Given the description of an element on the screen output the (x, y) to click on. 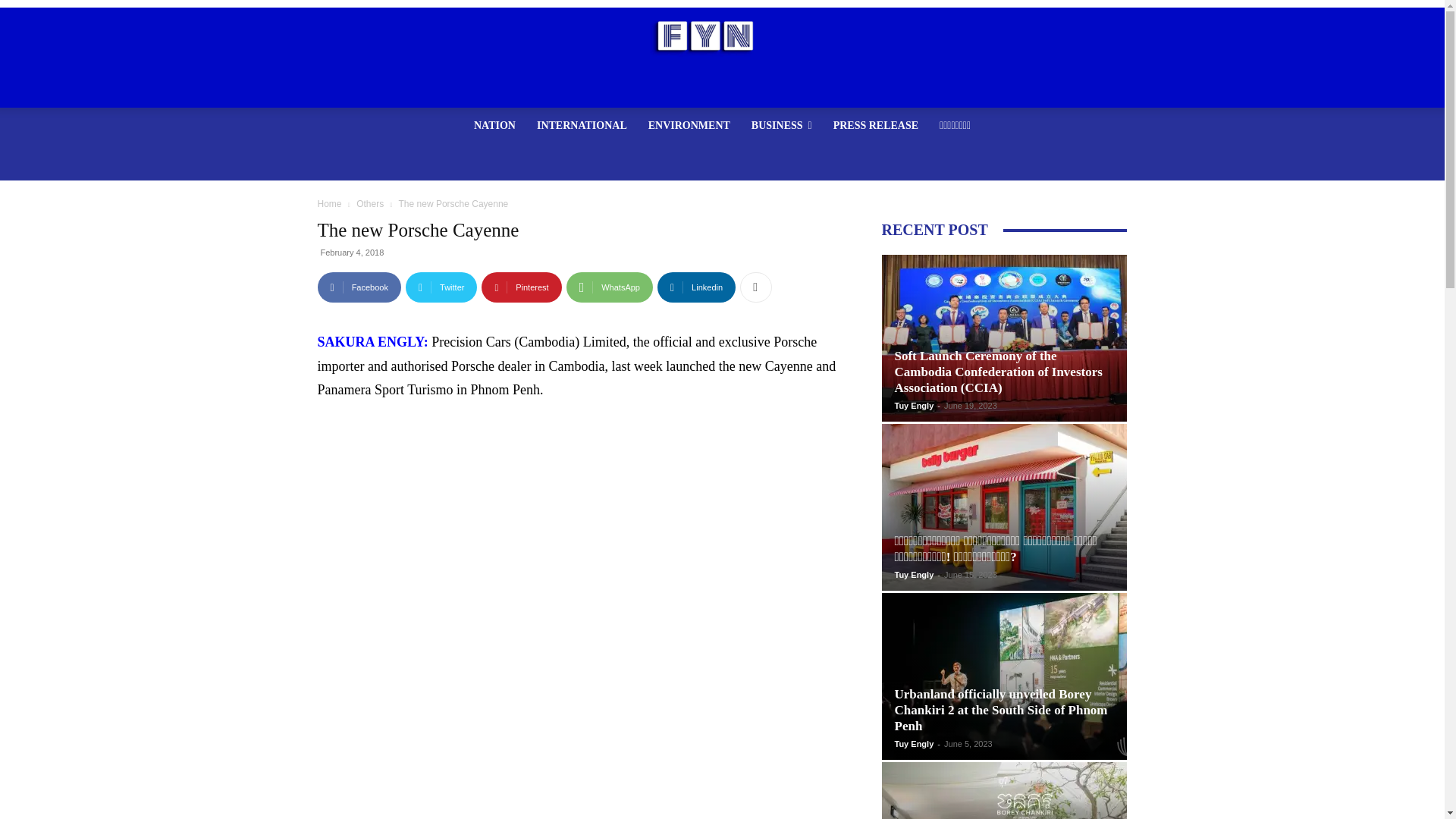
ENVIRONMENT (689, 125)
Linkedin (696, 286)
PRESS RELEASE (875, 125)
Twitter (441, 286)
WhatsApp (609, 286)
Twitter (441, 286)
INTERNATIONAL (581, 125)
Pinterest (520, 286)
WhatsApp (609, 286)
Facebook (358, 286)
Home (328, 204)
Pinterest (520, 286)
View all posts in Others (370, 204)
NATION (494, 125)
BUSINESS (781, 125)
